Given the description of an element on the screen output the (x, y) to click on. 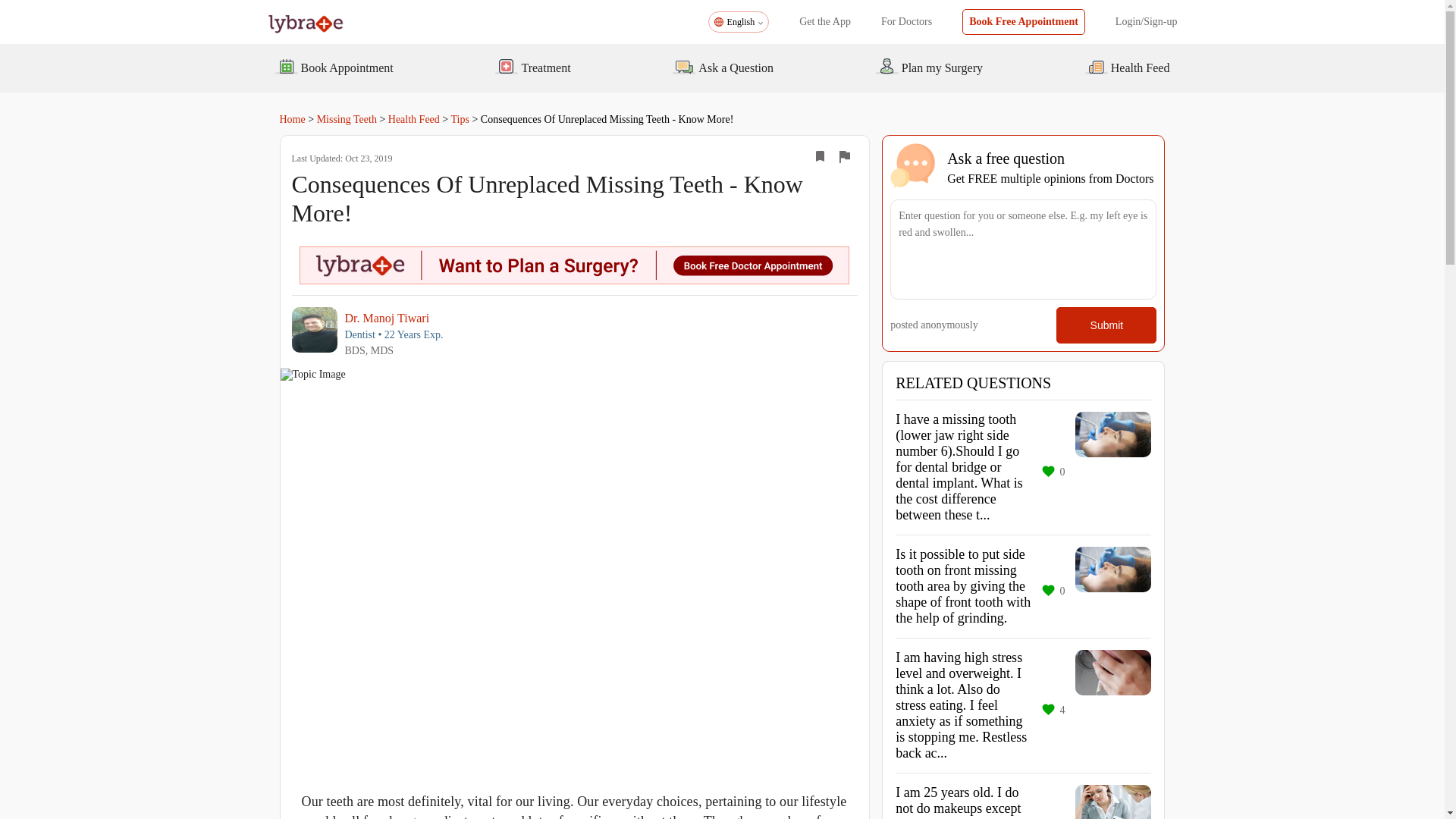
Missing Teeth (347, 119)
Tips (458, 119)
Ask a Question (722, 67)
Dr. Manoj Tiwari (392, 318)
Submit (1106, 325)
Book Free Appointment (1023, 22)
Health Feed (413, 119)
Plan my Surgery (928, 67)
